Given the description of an element on the screen output the (x, y) to click on. 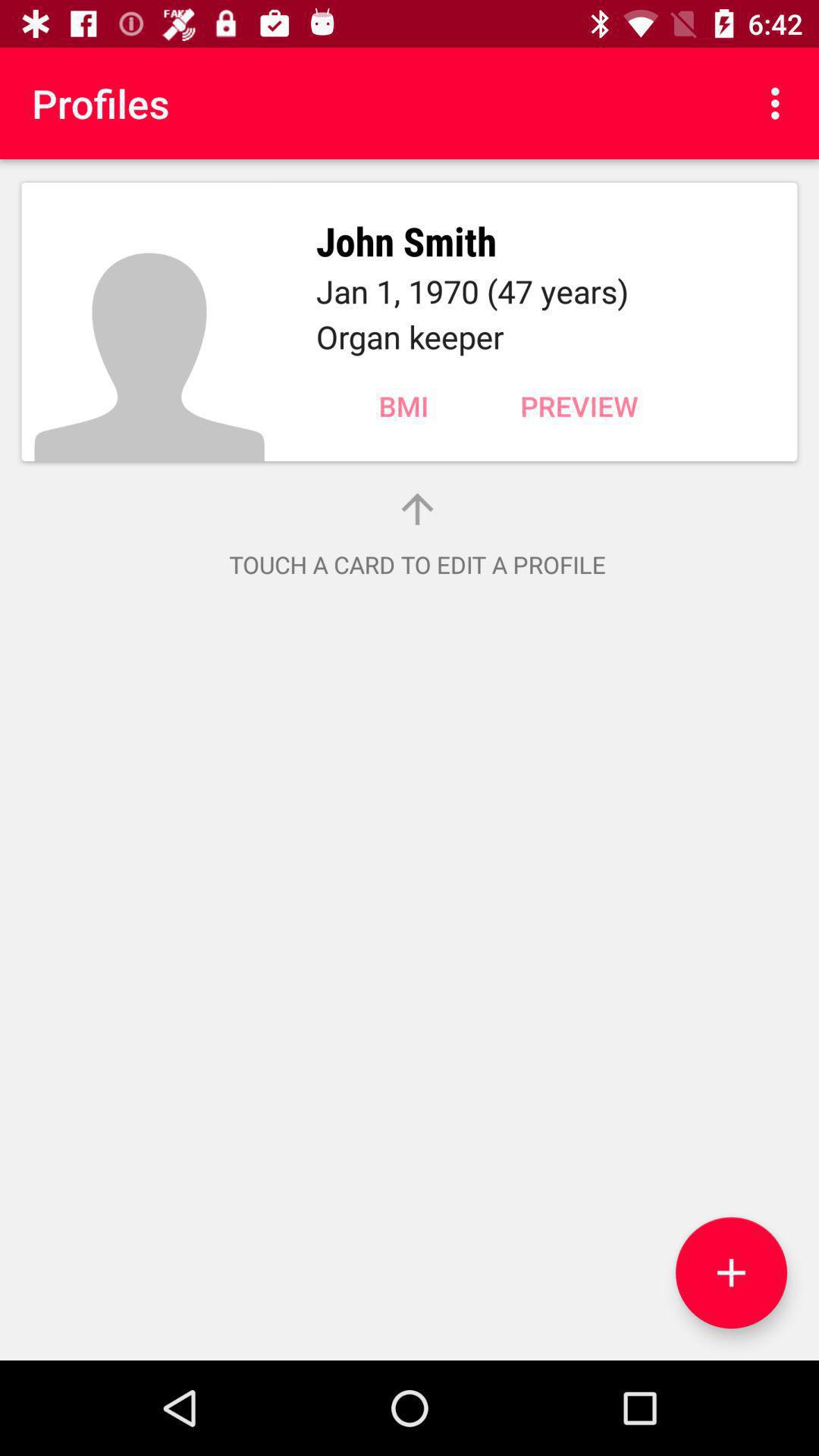
turn off item next to the preview item (403, 405)
